Given the description of an element on the screen output the (x, y) to click on. 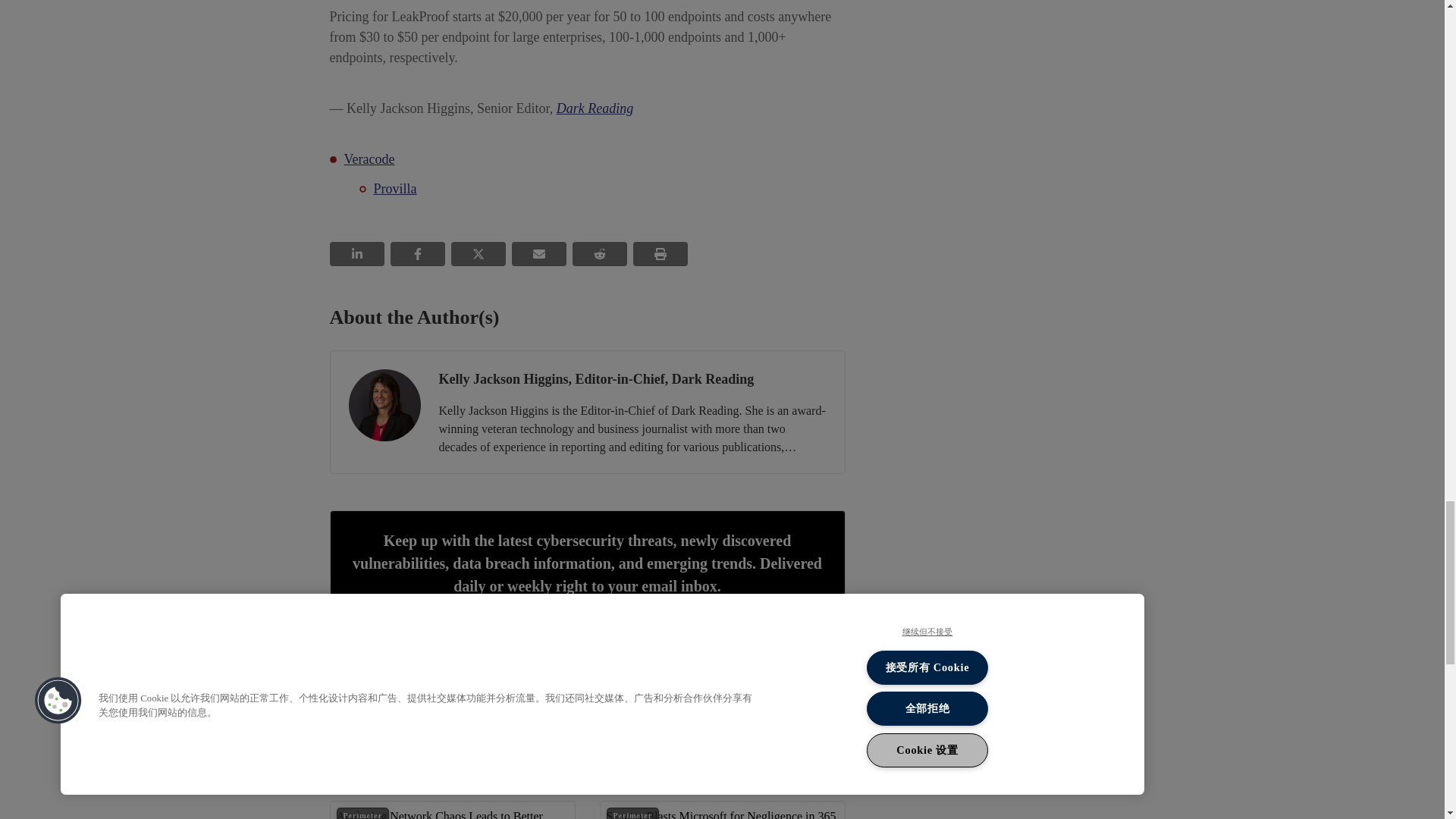
Kelly Jackson Higgins, Editor-in-Chief, Dark Reading (384, 405)
